Given the description of an element on the screen output the (x, y) to click on. 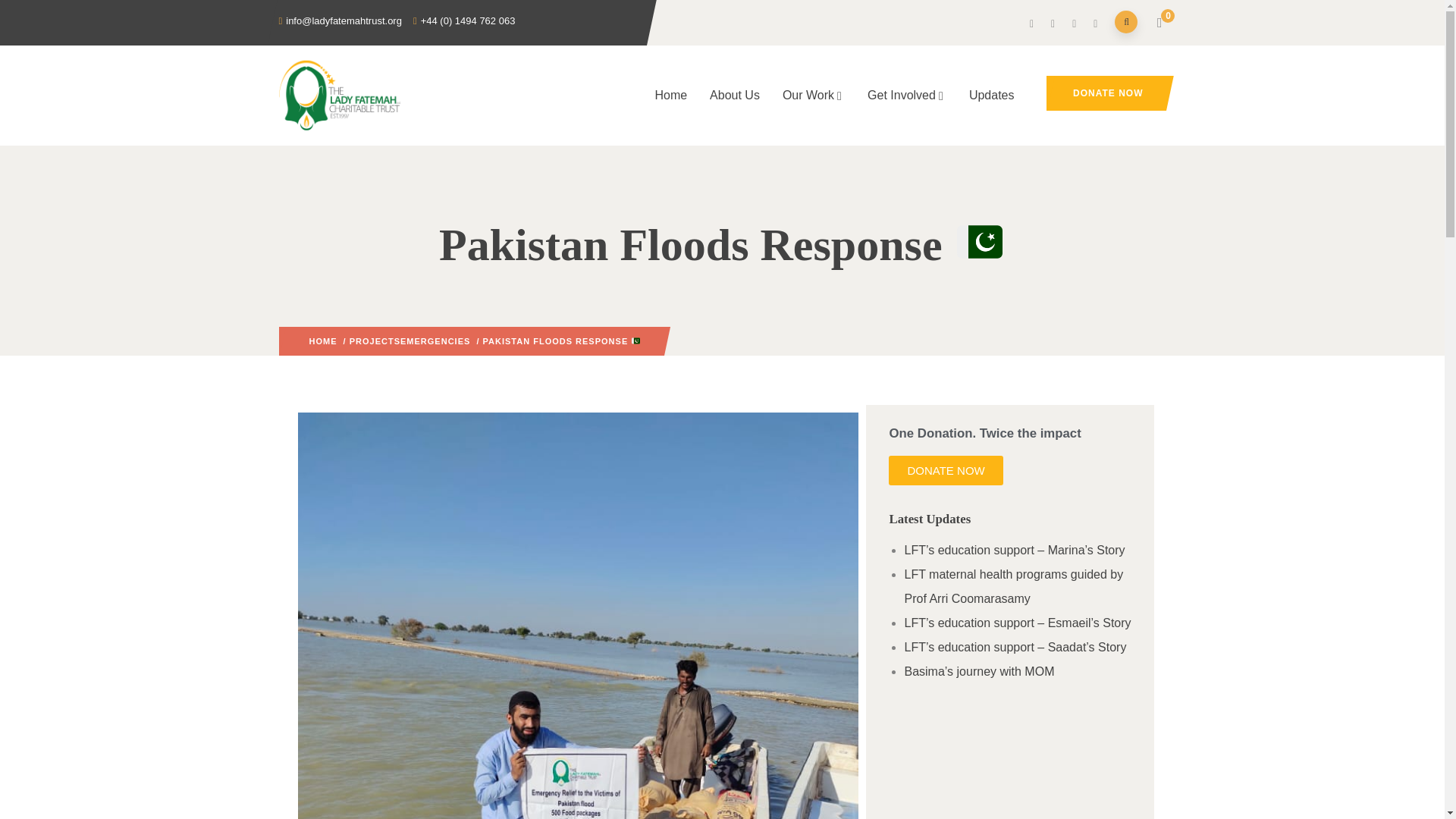
About Us (734, 95)
Our Work (813, 95)
Home (670, 95)
